Given the description of an element on the screen output the (x, y) to click on. 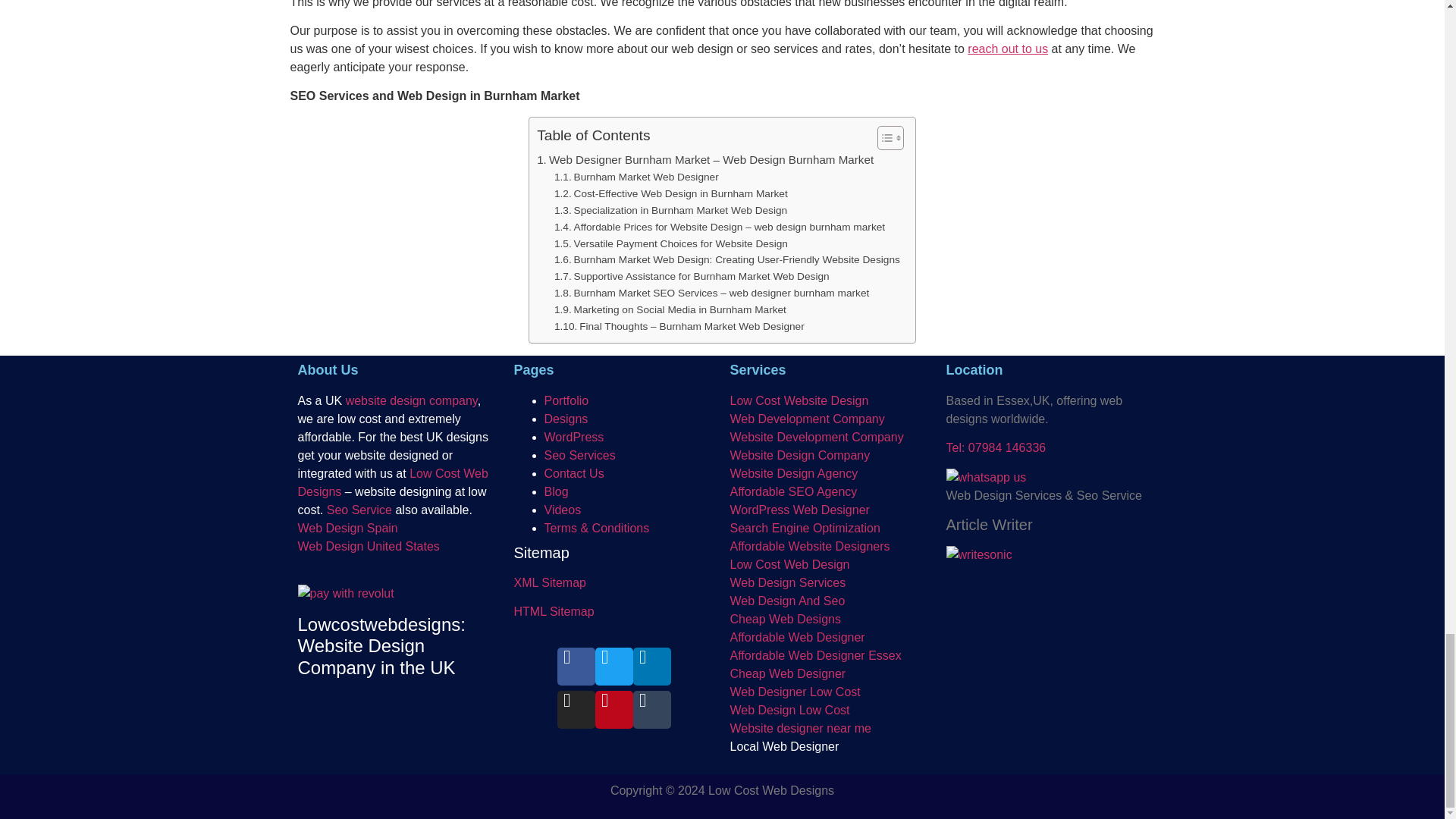
Versatile Payment Choices for Website Design (670, 243)
Specialization in Burnham Market Web Design (670, 210)
Cost-Effective Web Design in Burnham Market (670, 193)
Burnham Market Web Designer (636, 176)
